Given the description of an element on the screen output the (x, y) to click on. 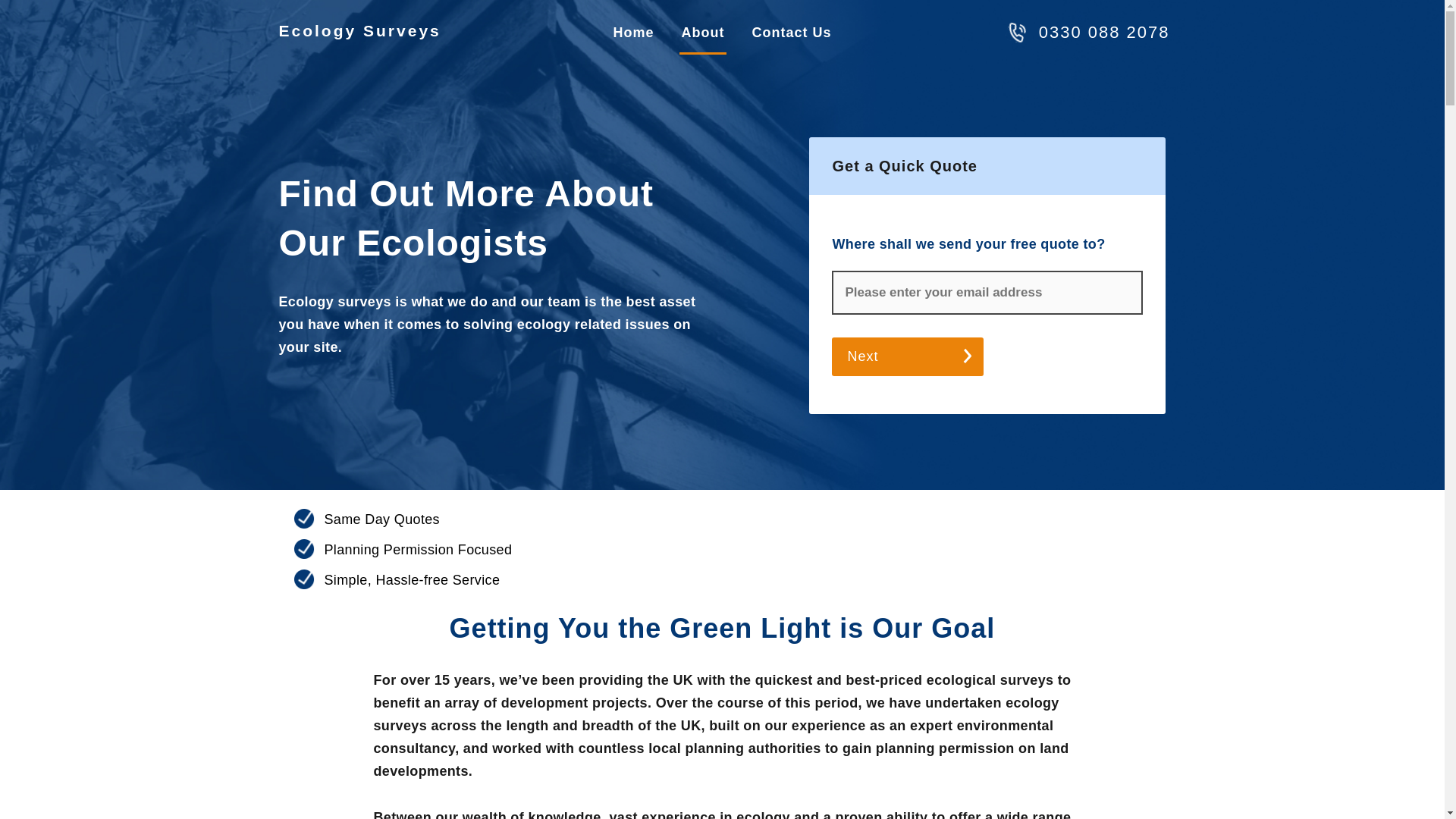
Next (907, 356)
0330 088 2078 (1104, 31)
Contact Us (790, 33)
About (702, 33)
Home (633, 33)
